Given the description of an element on the screen output the (x, y) to click on. 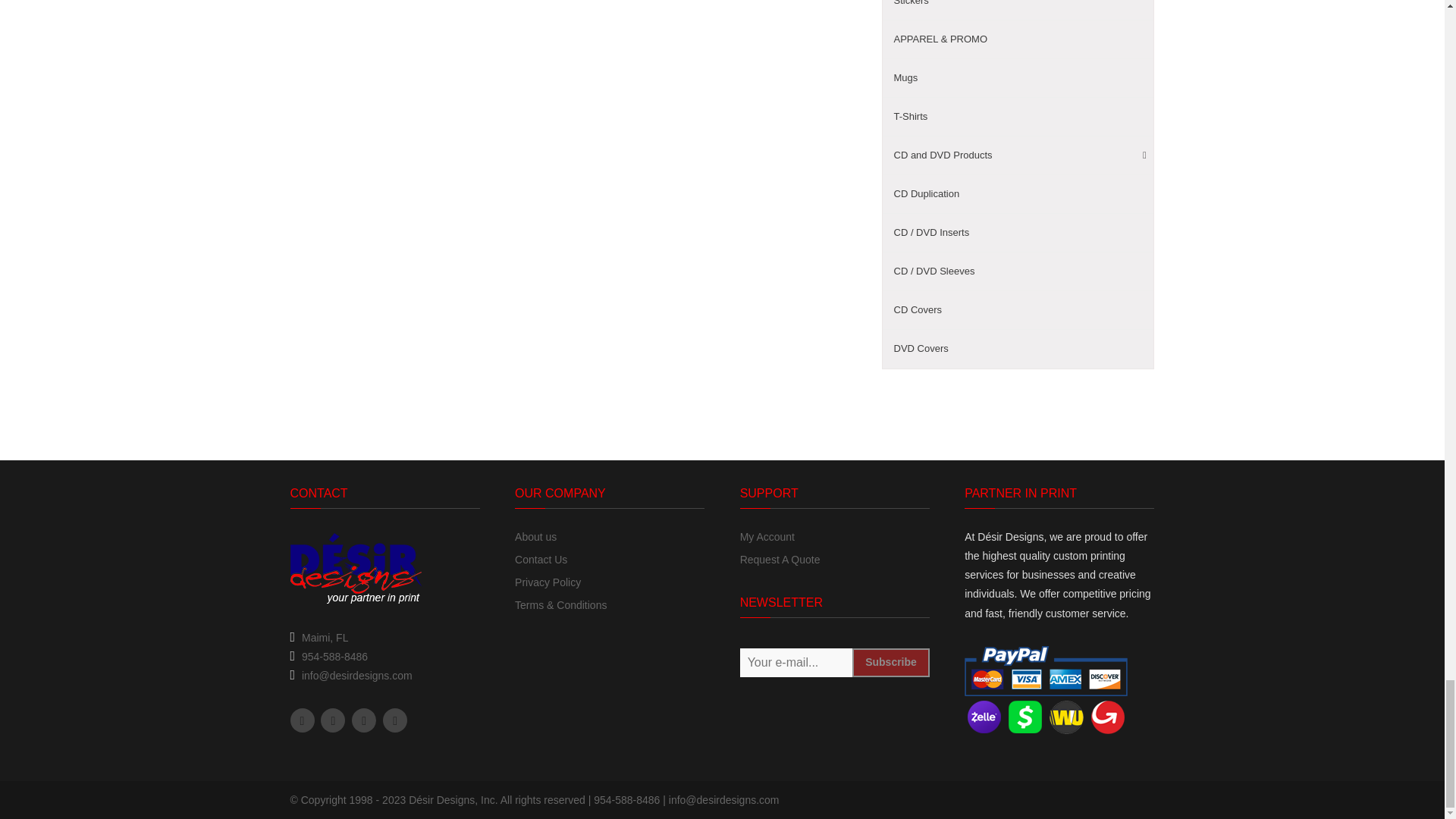
send mail (356, 675)
